Given the description of an element on the screen output the (x, y) to click on. 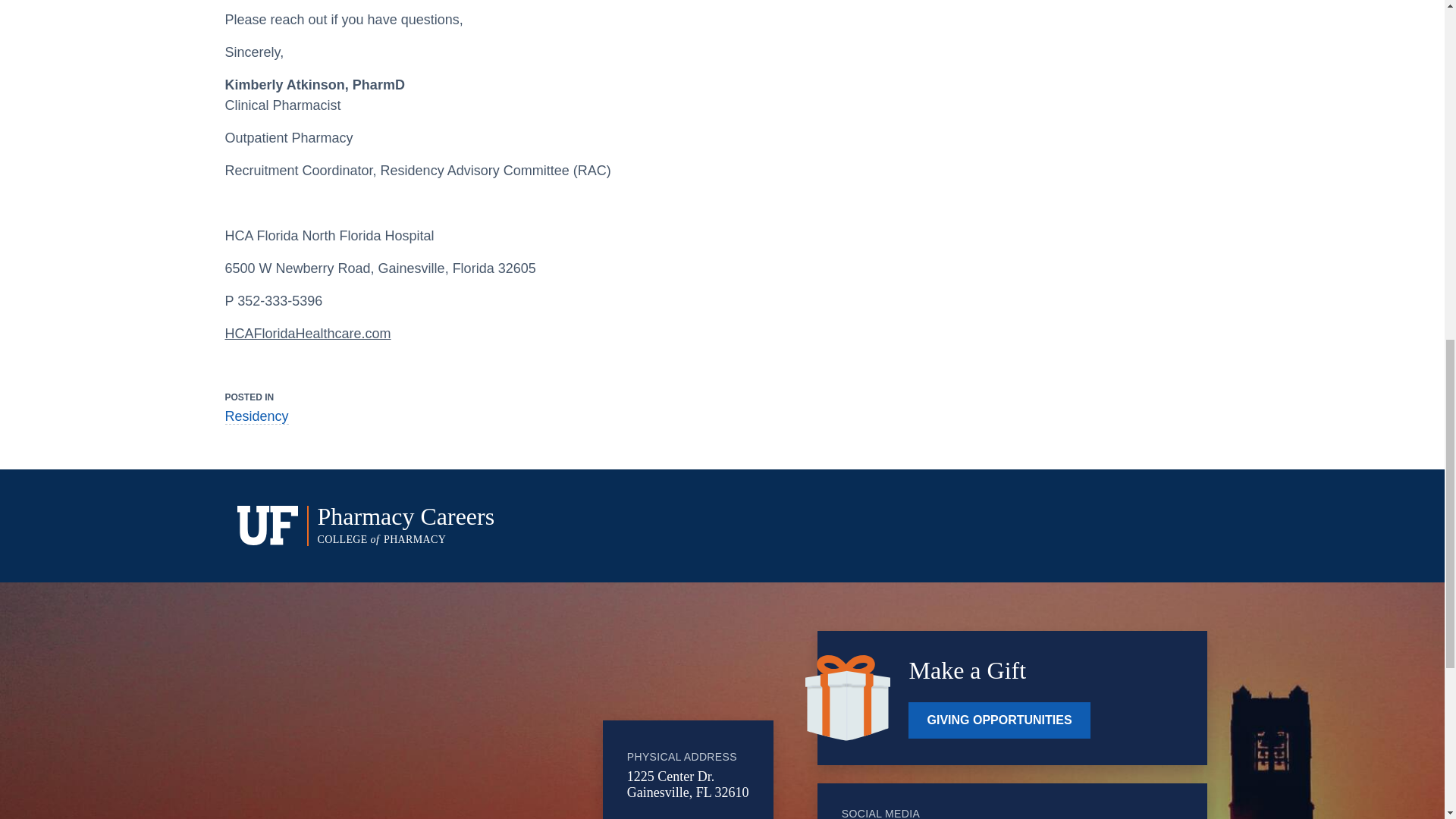
Residency (256, 416)
Google Maps Embed (526, 526)
